Given the description of an element on the screen output the (x, y) to click on. 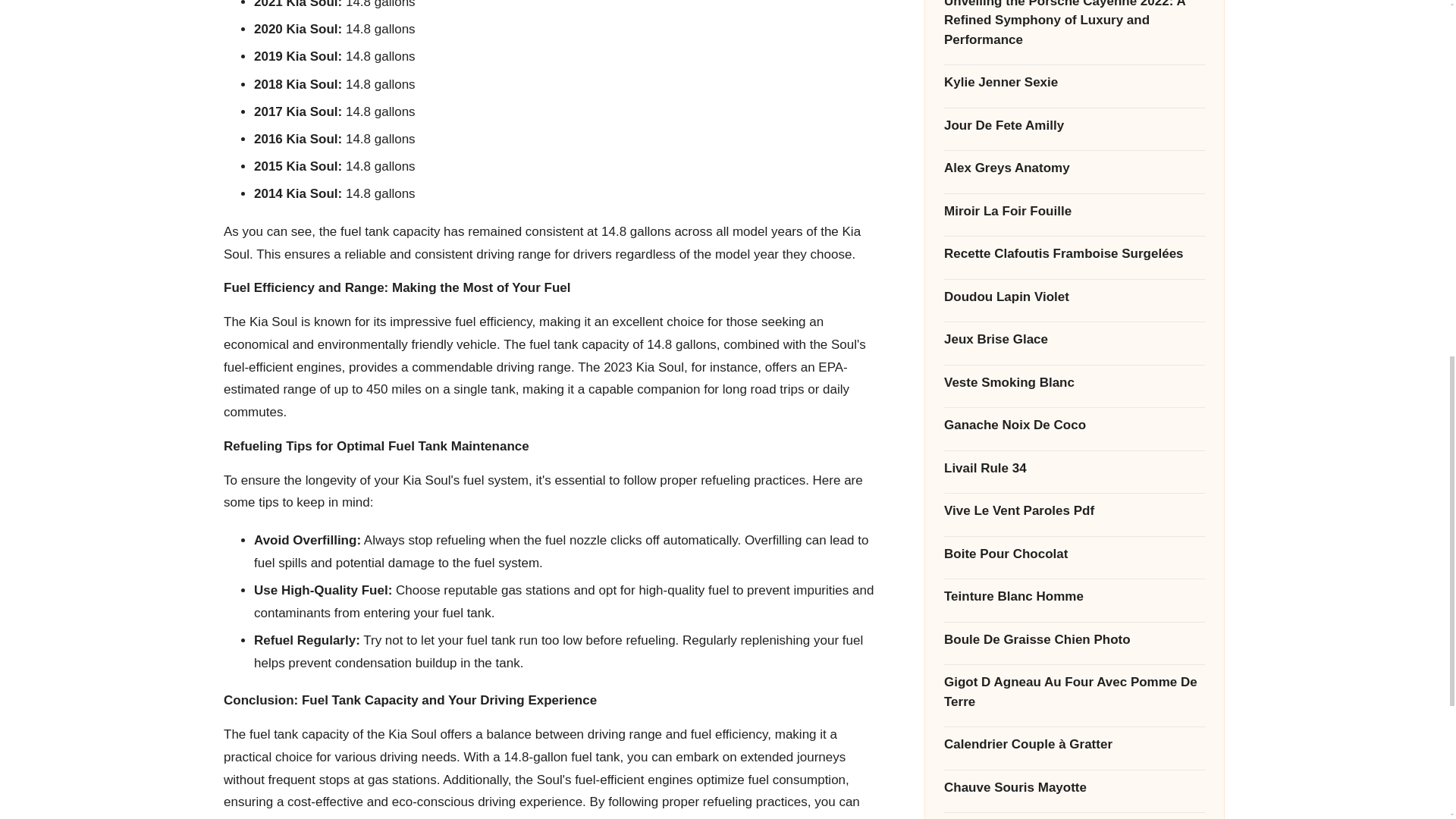
Boite Pour Chocolat (1074, 488)
Kylie Jenner Sexie (1074, 17)
Jour De Fete Amilly (1074, 61)
Teinture Blanc Homme (1074, 532)
Veste Smoking Blanc (1074, 317)
Boule De Graisse Chien Photo (1074, 575)
Livail Rule 34 (1074, 403)
Alex Greys Anatomy (1074, 103)
Doudou Lapin Violet (1074, 232)
Vive Le Vent Paroles Pdf (1074, 446)
Gigot D Agneau Au Four Avec Pomme De Terre (1074, 627)
Jeux Brise Glace (1074, 275)
Miroir La Foir Fouille (1074, 146)
Ganache Noix De Coco (1074, 361)
